Given the description of an element on the screen output the (x, y) to click on. 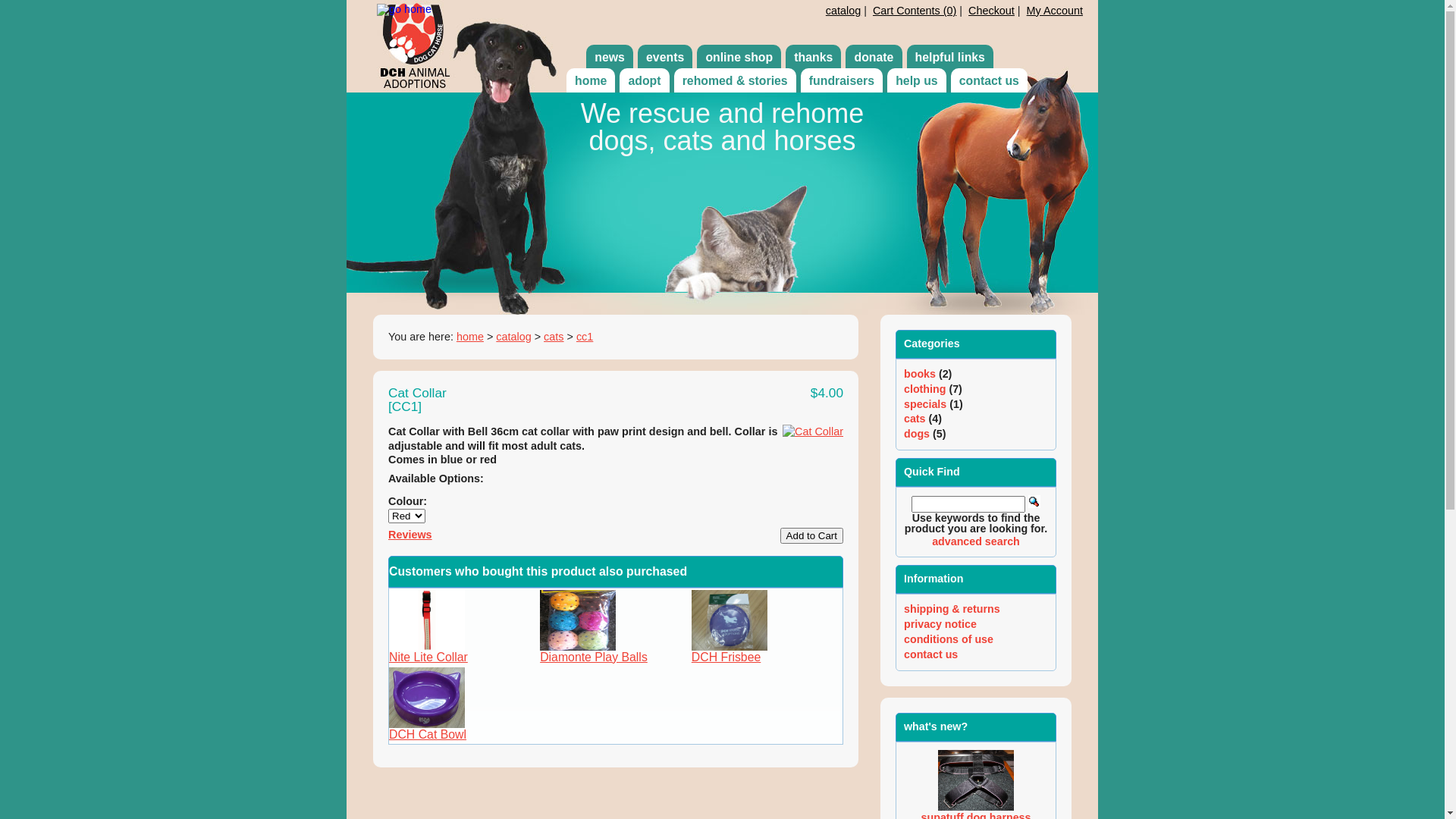
home Element type: text (469, 336)
 Quick Find  Element type: hover (1034, 501)
fundraisers Element type: text (841, 81)
Reviews Element type: text (410, 534)
Cart Contents (0) Element type: text (914, 10)
catalog Element type: text (842, 10)
DCH Cat Bowl Element type: hover (426, 697)
My Account Element type: text (1054, 10)
advanced search Element type: text (975, 541)
Add to Cart Element type: text (811, 535)
online shop Element type: text (738, 57)
contact us Element type: text (930, 654)
cats Element type: text (914, 418)
shipping & returns Element type: text (951, 608)
help us Element type: text (916, 81)
cats Element type: text (553, 336)
catalog Element type: text (512, 336)
events Element type: text (664, 57)
helpful links Element type: text (950, 57)
Diamonte Play Balls Element type: text (593, 656)
DCH Cat Bowl Element type: text (427, 734)
home Element type: text (590, 81)
clothing Element type: text (924, 388)
cc1 Element type: text (584, 336)
conditions of use Element type: text (948, 639)
Nite Lite Collar Element type: text (428, 656)
dogs Element type: text (916, 433)
books Element type: text (919, 373)
Checkout Element type: text (991, 10)
what's new? Element type: text (935, 726)
DCH Frisbee Element type: hover (729, 619)
contact us Element type: text (988, 81)
specials Element type: text (924, 404)
donate Element type: text (873, 57)
privacy notice Element type: text (939, 624)
news Element type: text (609, 57)
Diamonte Play Balls Element type: hover (577, 619)
DCH Frisbee Element type: text (725, 656)
adopt Element type: text (643, 81)
thanks Element type: text (812, 57)
SupaTuff Dog Harness Element type: hover (975, 779)
rehomed & stories Element type: text (735, 81)
Cat Collar Element type: hover (812, 431)
Nite Lite Collar Element type: hover (426, 619)
